Given the description of an element on the screen output the (x, y) to click on. 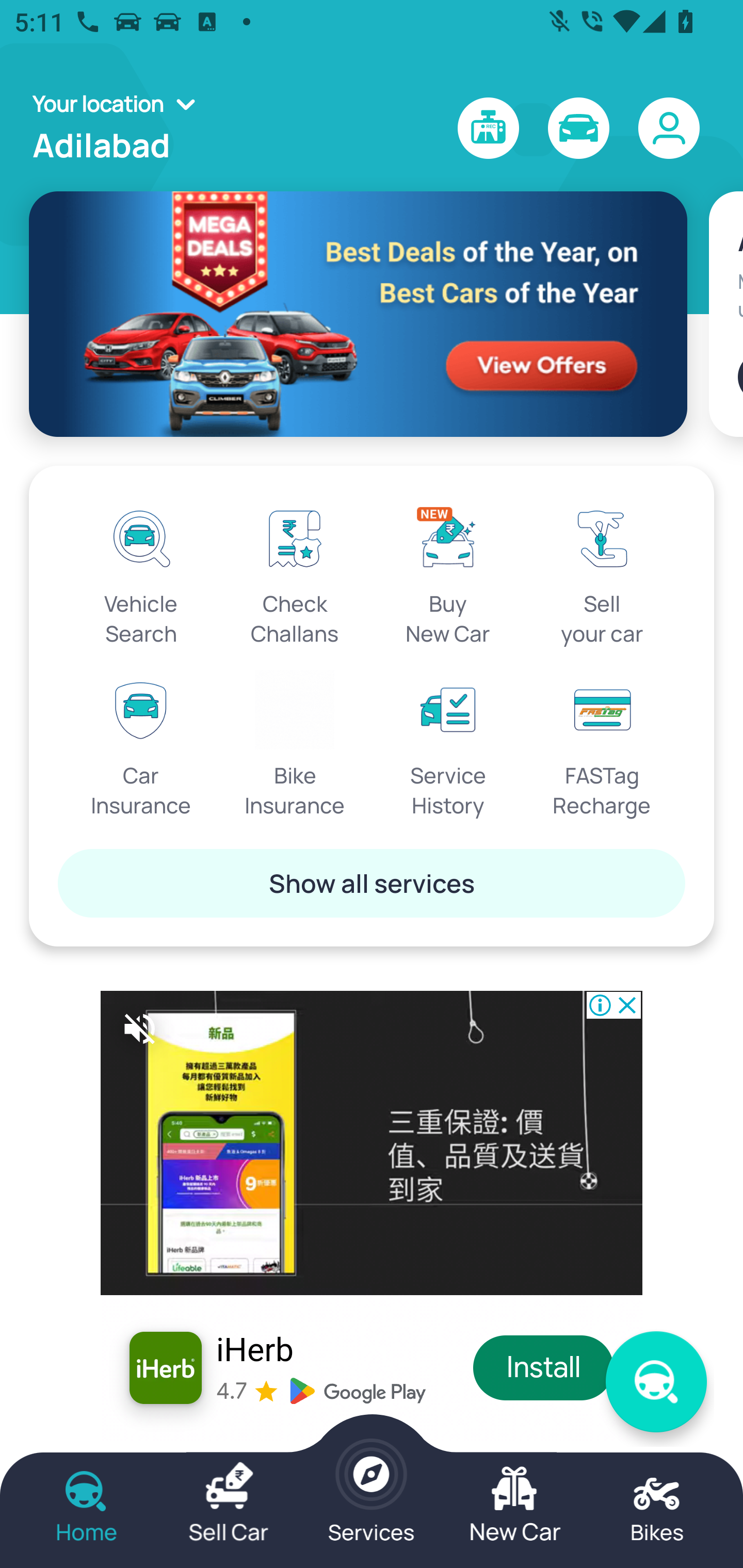
Your location Adilabad (119, 128)
Add vehicle (740, 376)
Vehicle
Search (141, 572)
Check
Challans (294, 572)
Buy
New Car (447, 572)
Sell
your car (601, 572)
Car
Insurance (141, 744)
Bike
Insurance (294, 744)
Service
History (447, 744)
FASTag Recharge (601, 744)
Show all services (371, 882)
Install (543, 1367)
